Given the description of an element on the screen output the (x, y) to click on. 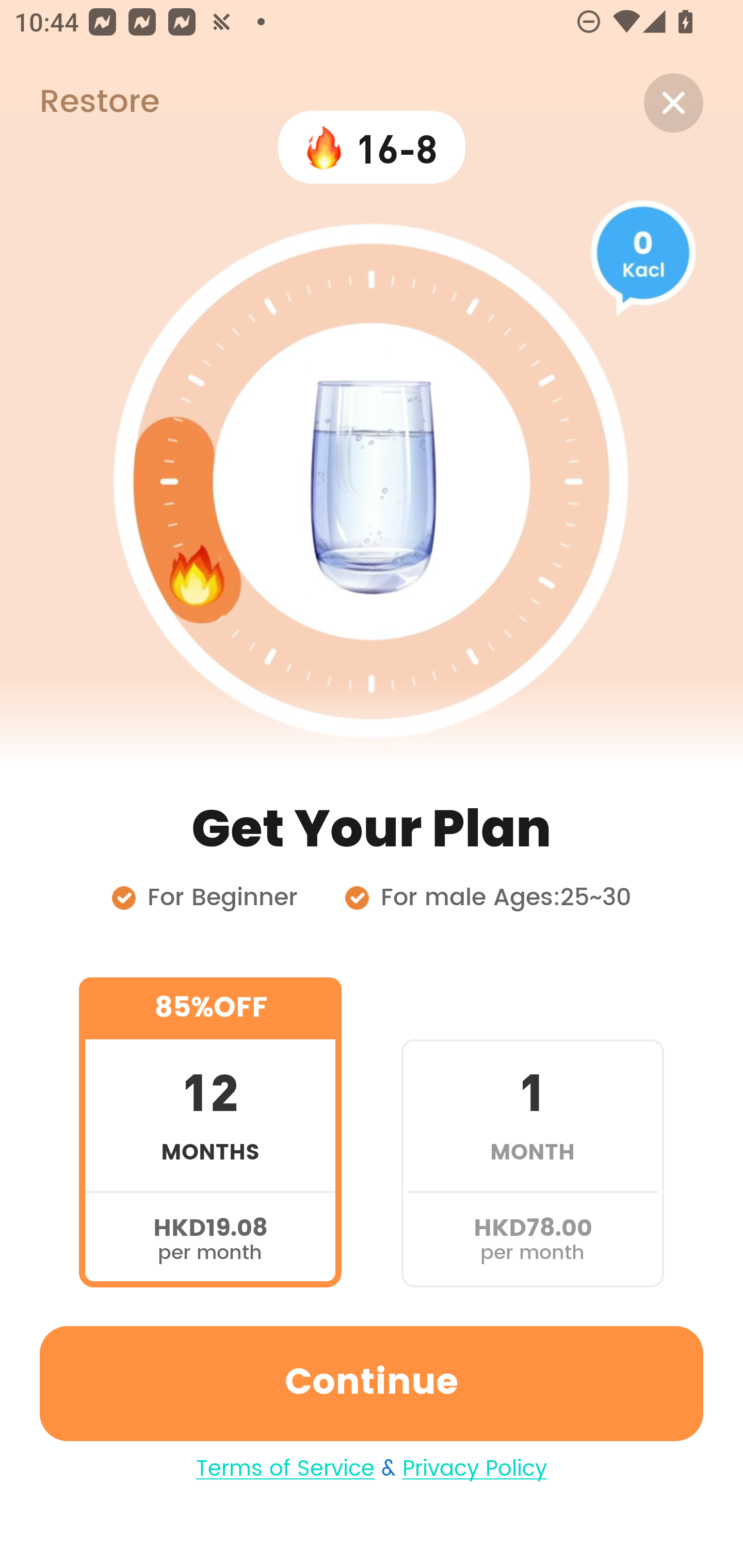
Restore (79, 102)
85%OFF 12 MONTHS per month HKD19.08 (209, 1131)
1 MONTH per month HKD78.00 (532, 1131)
Continue (371, 1383)
